Given the description of an element on the screen output the (x, y) to click on. 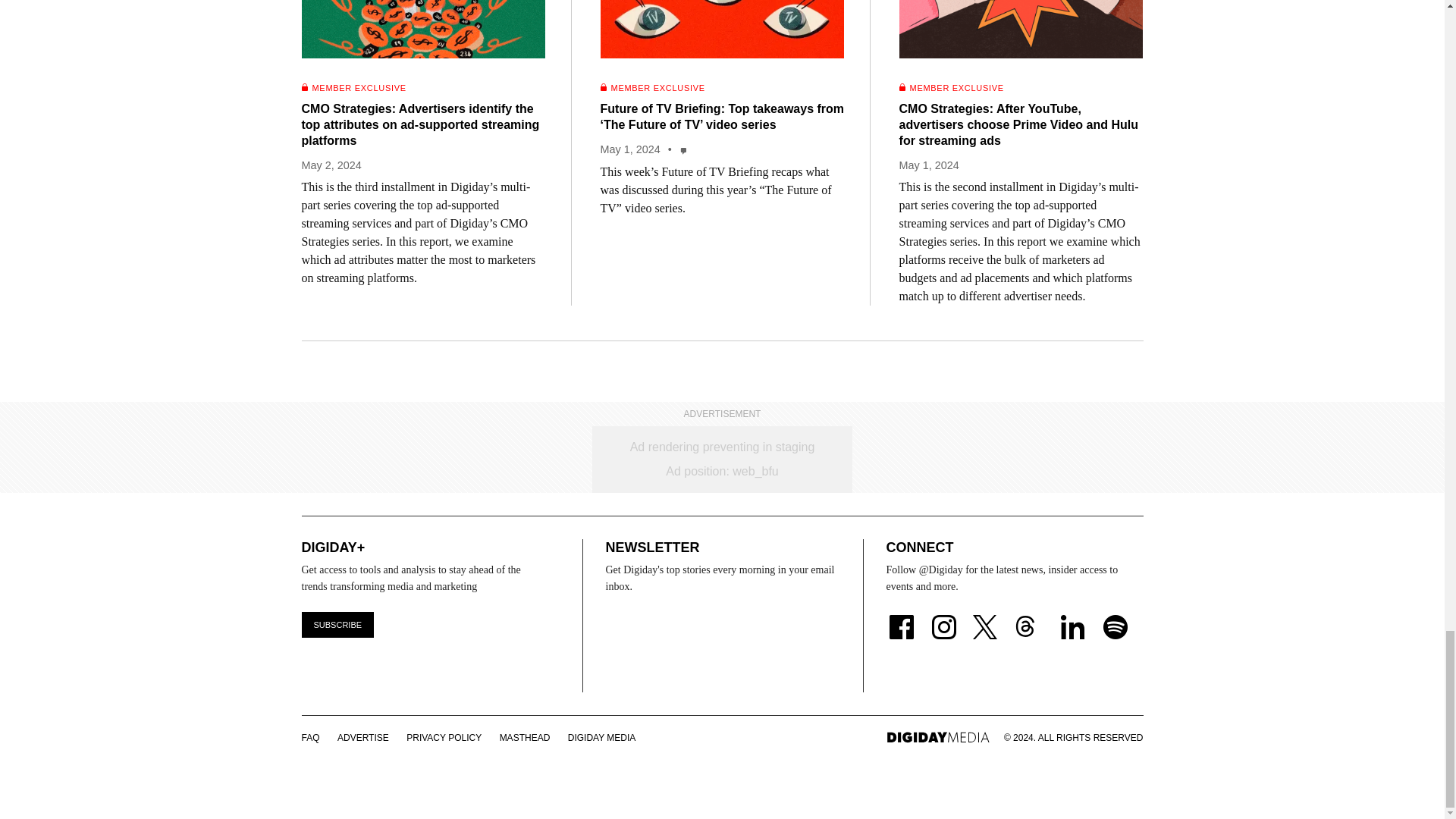
Join the conversation (683, 149)
